Given the description of an element on the screen output the (x, y) to click on. 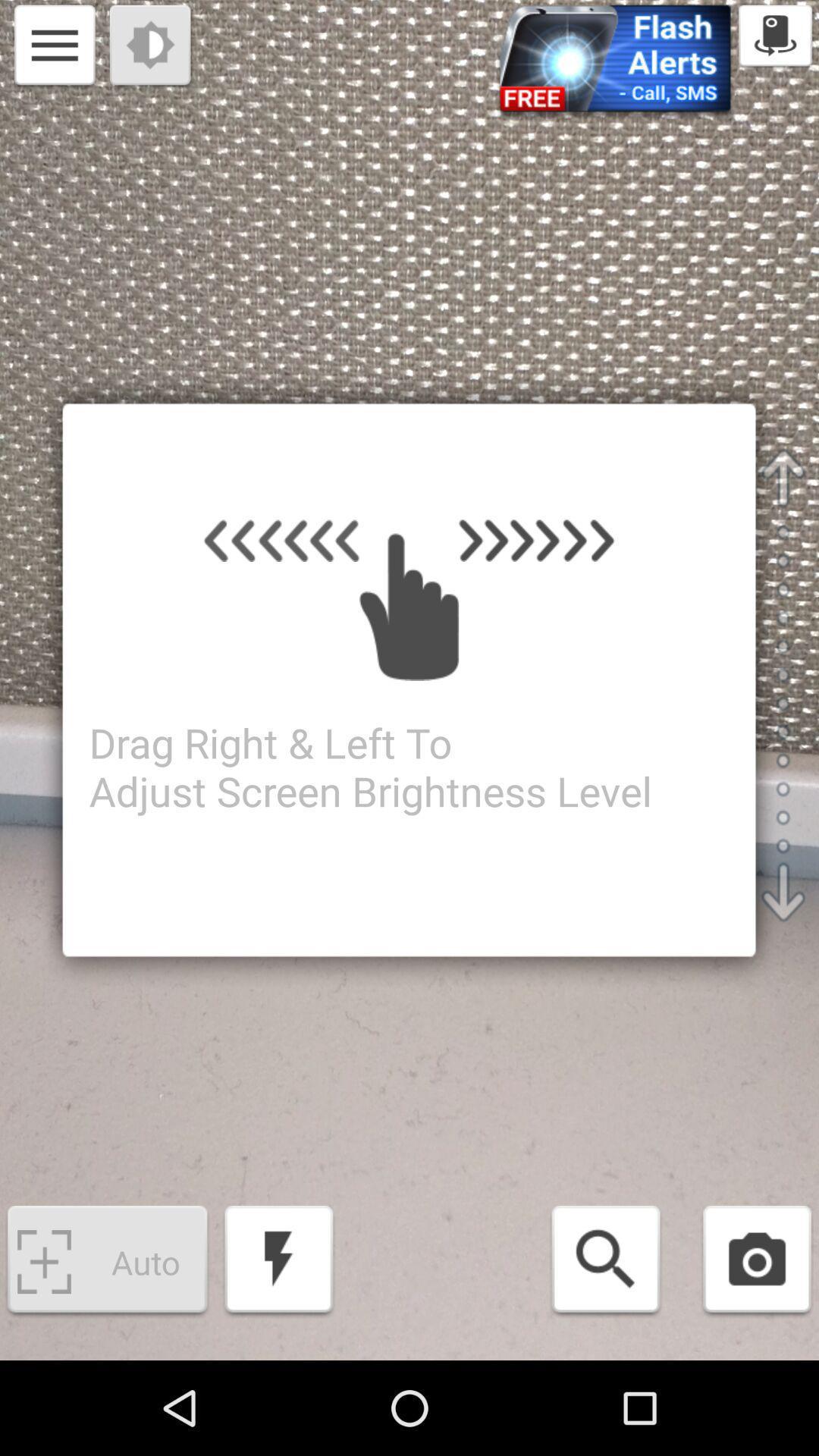
visit advertisement site (615, 62)
